Given the description of an element on the screen output the (x, y) to click on. 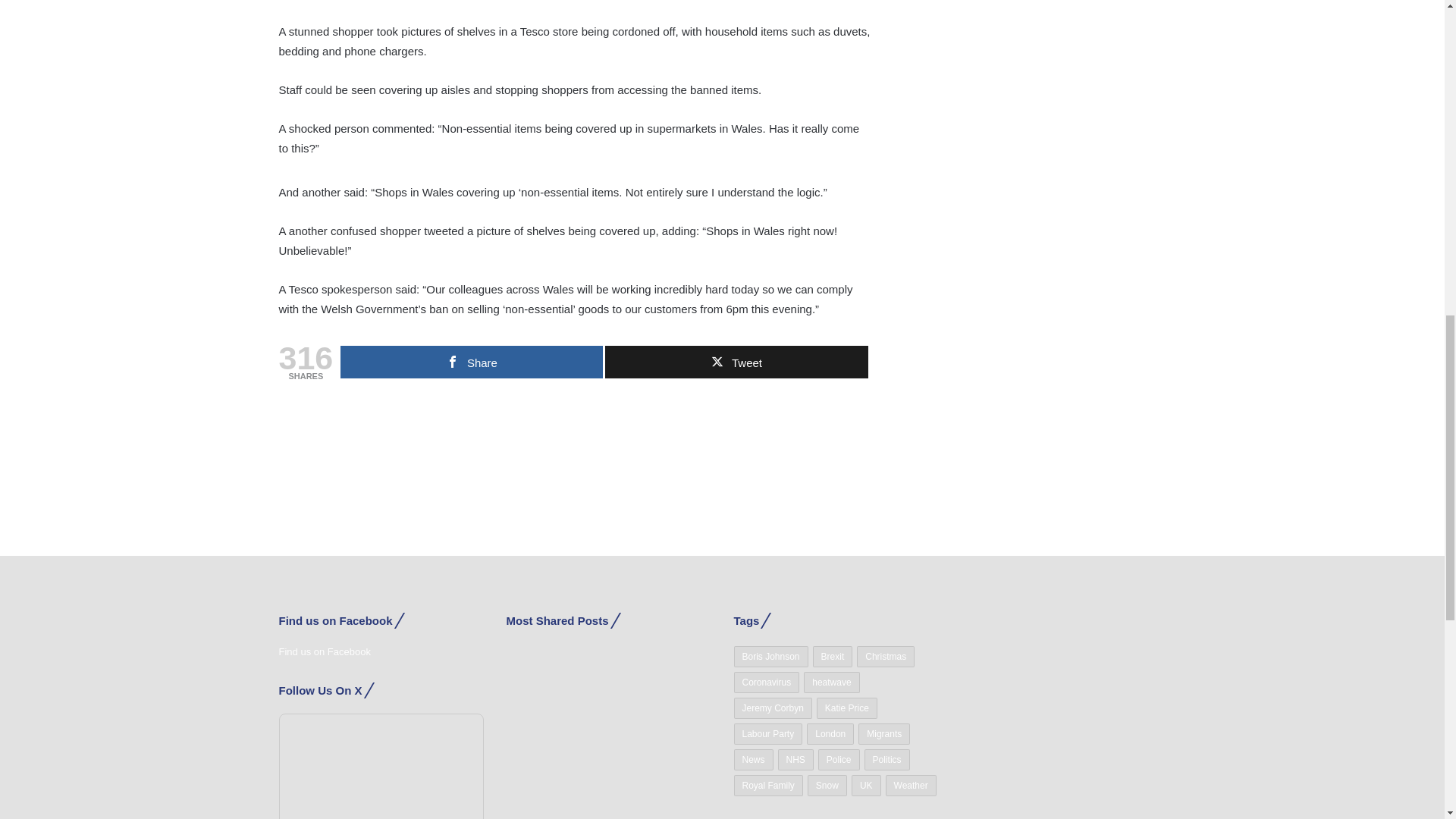
Share (471, 361)
Tweet (736, 361)
